Given the description of an element on the screen output the (x, y) to click on. 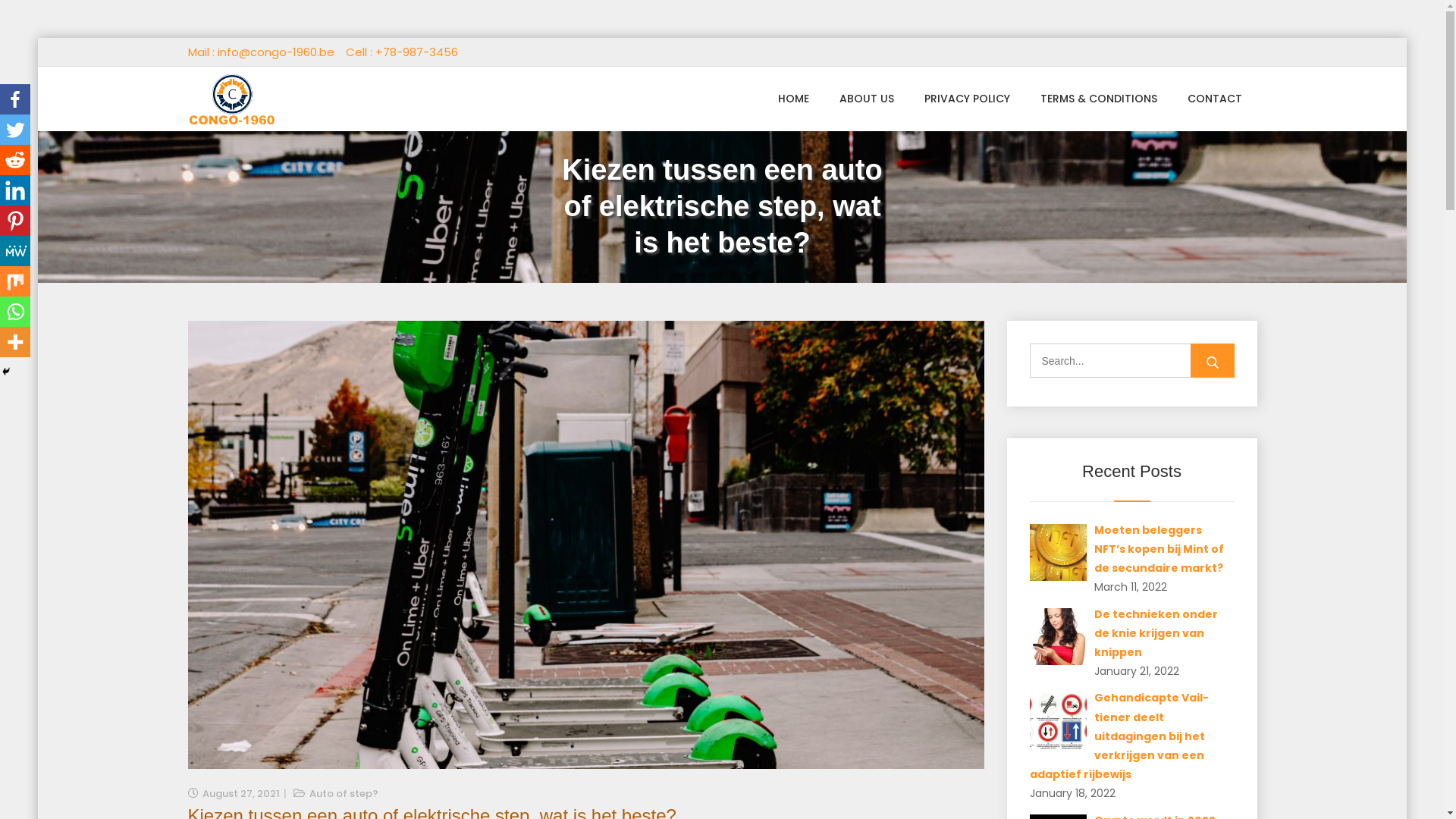
CONTACT Element type: text (1214, 98)
Congo-1960 Element type: text (246, 138)
Reddit Element type: hover (15, 159)
Twitter Element type: hover (15, 129)
Facebook Element type: hover (15, 99)
Pinterest Element type: hover (15, 220)
Cell : +78-987-3456 Element type: text (401, 51)
TERMS & CONDITIONS Element type: text (1098, 98)
Linkedin Element type: hover (15, 190)
Auto of step? Element type: text (343, 793)
Hide Element type: hover (6, 371)
Mix Element type: hover (15, 281)
August 27, 2021 Element type: text (240, 793)
More Element type: hover (15, 341)
Whatsapp Element type: hover (15, 311)
PRIVACY POLICY Element type: text (966, 98)
HOME Element type: text (793, 98)
De technieken onder de knie krijgen van knippen Element type: text (1155, 632)
ABOUT US Element type: text (865, 98)
Skip to content Element type: text (37, 37)
MeWe Element type: hover (15, 250)
Mail : info@congo-1960.be Element type: text (261, 51)
